Given the description of an element on the screen output the (x, y) to click on. 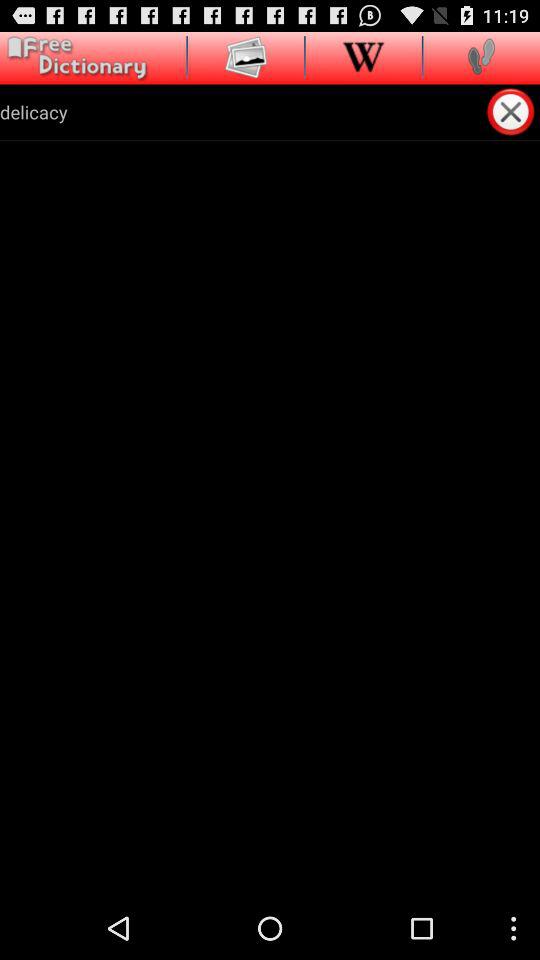
click to see photos (246, 56)
